Given the description of an element on the screen output the (x, y) to click on. 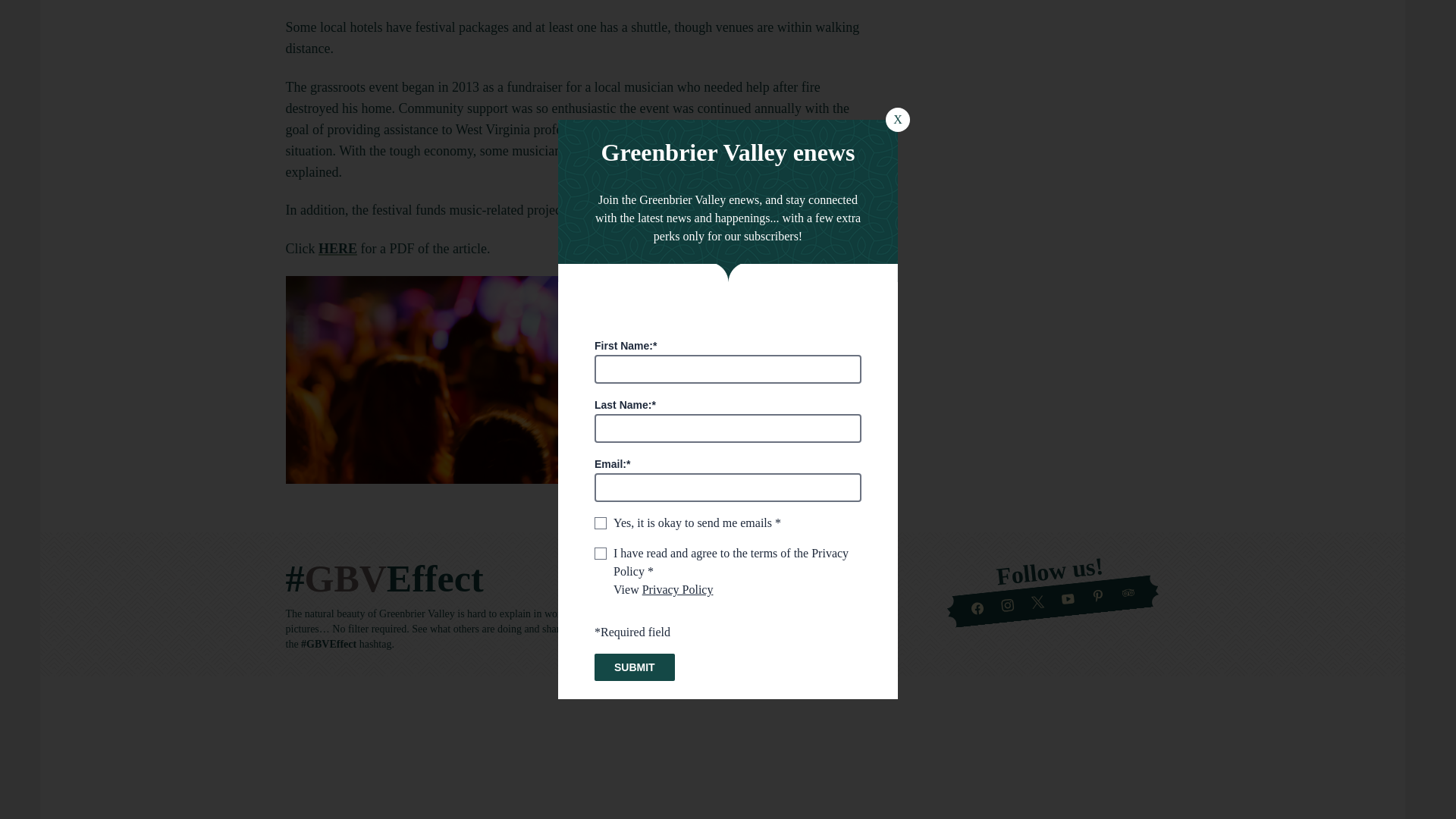
Social Pinterest SVG icon (1097, 595)
Tripadvisor A solid styled icon from Orion Icon Library. (1127, 591)
